Given the description of an element on the screen output the (x, y) to click on. 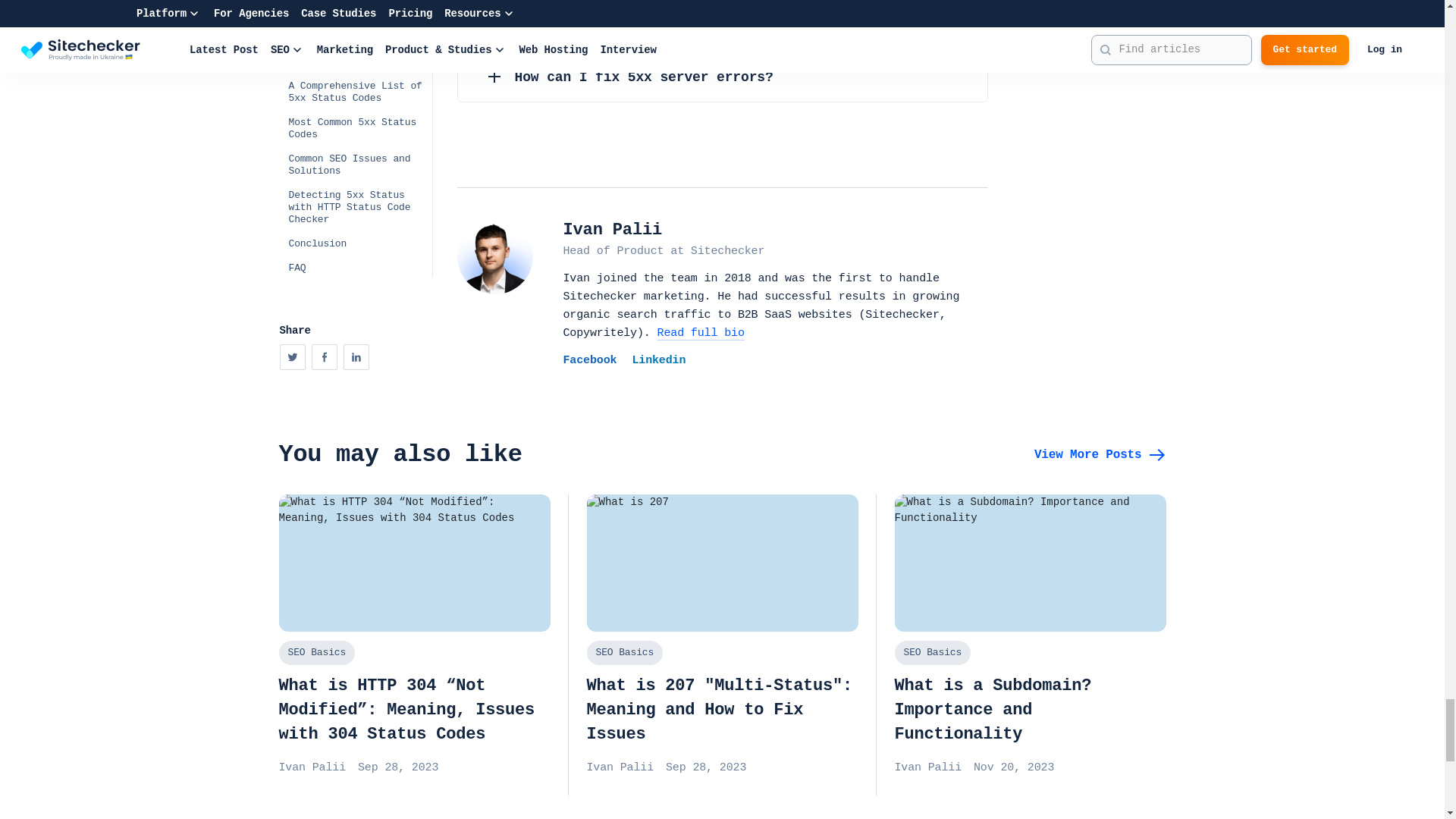
What is 207  (722, 644)
What is a Subdomain? Importance and Functionality (1030, 644)
What is a Subdomain? Importance and Functionality (1030, 562)
What is 207  (722, 562)
